Given the description of an element on the screen output the (x, y) to click on. 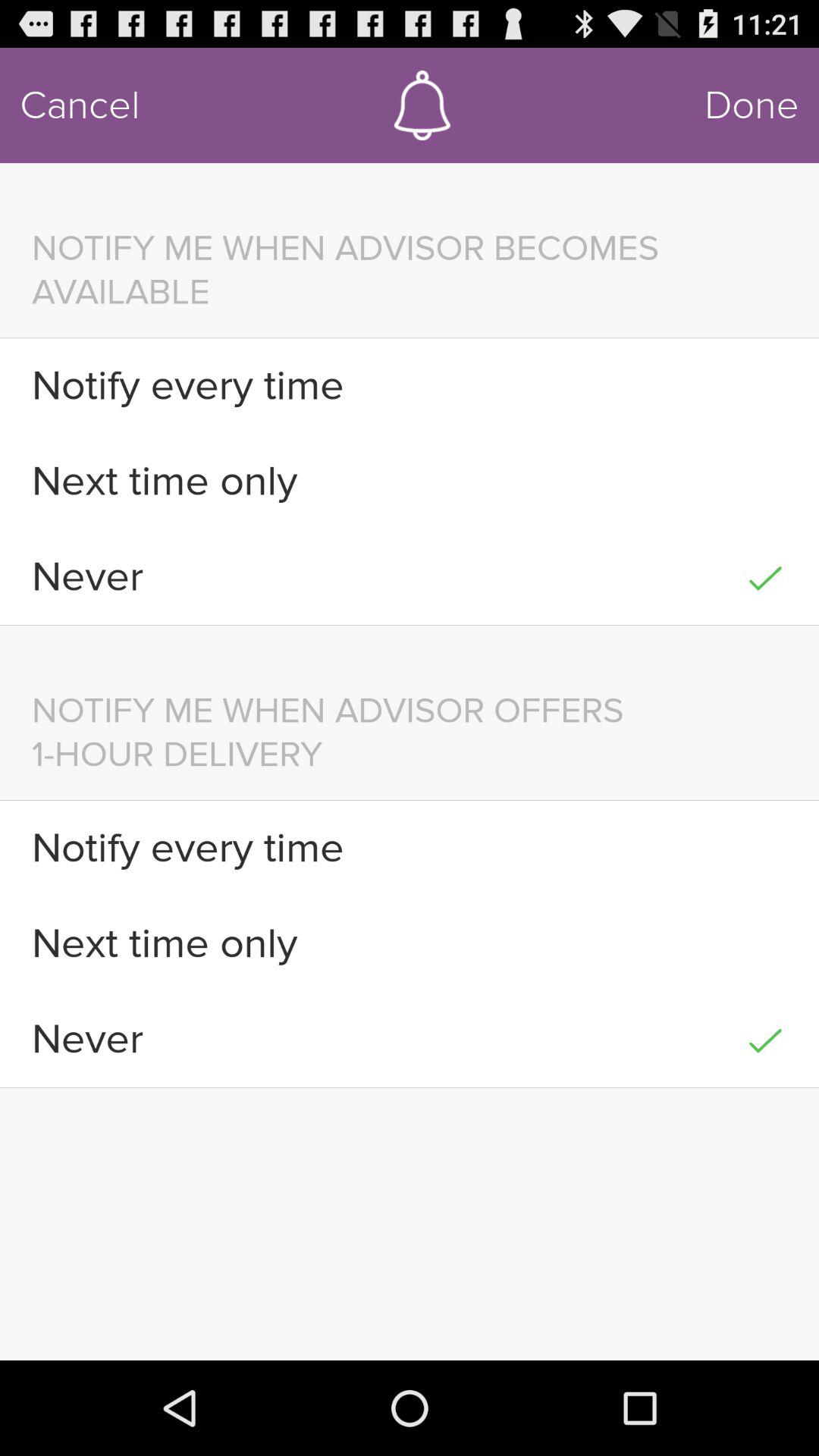
press the done icon (751, 105)
